Given the description of an element on the screen output the (x, y) to click on. 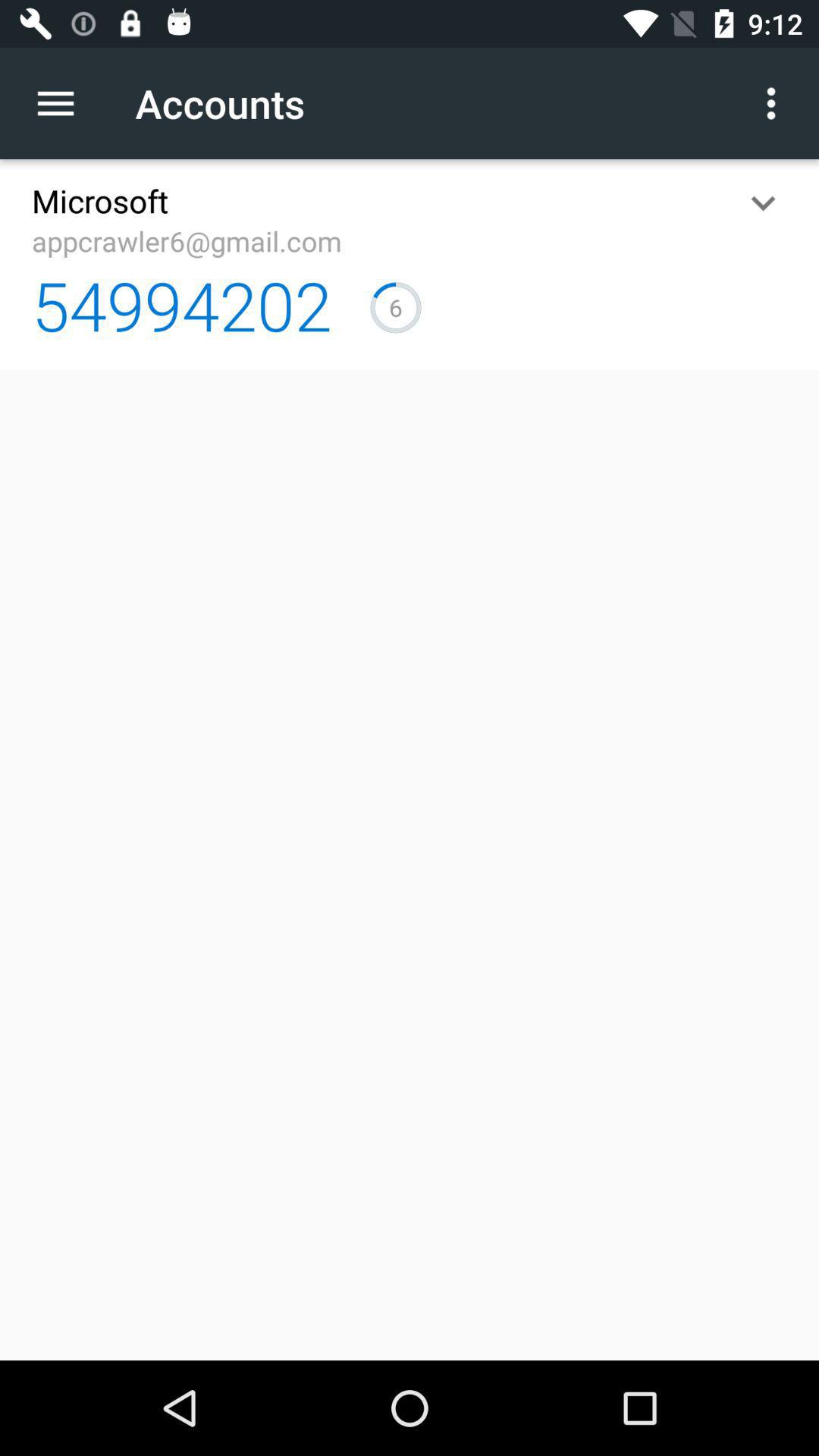
choose the icon to the left of accounts item (63, 103)
